Given the description of an element on the screen output the (x, y) to click on. 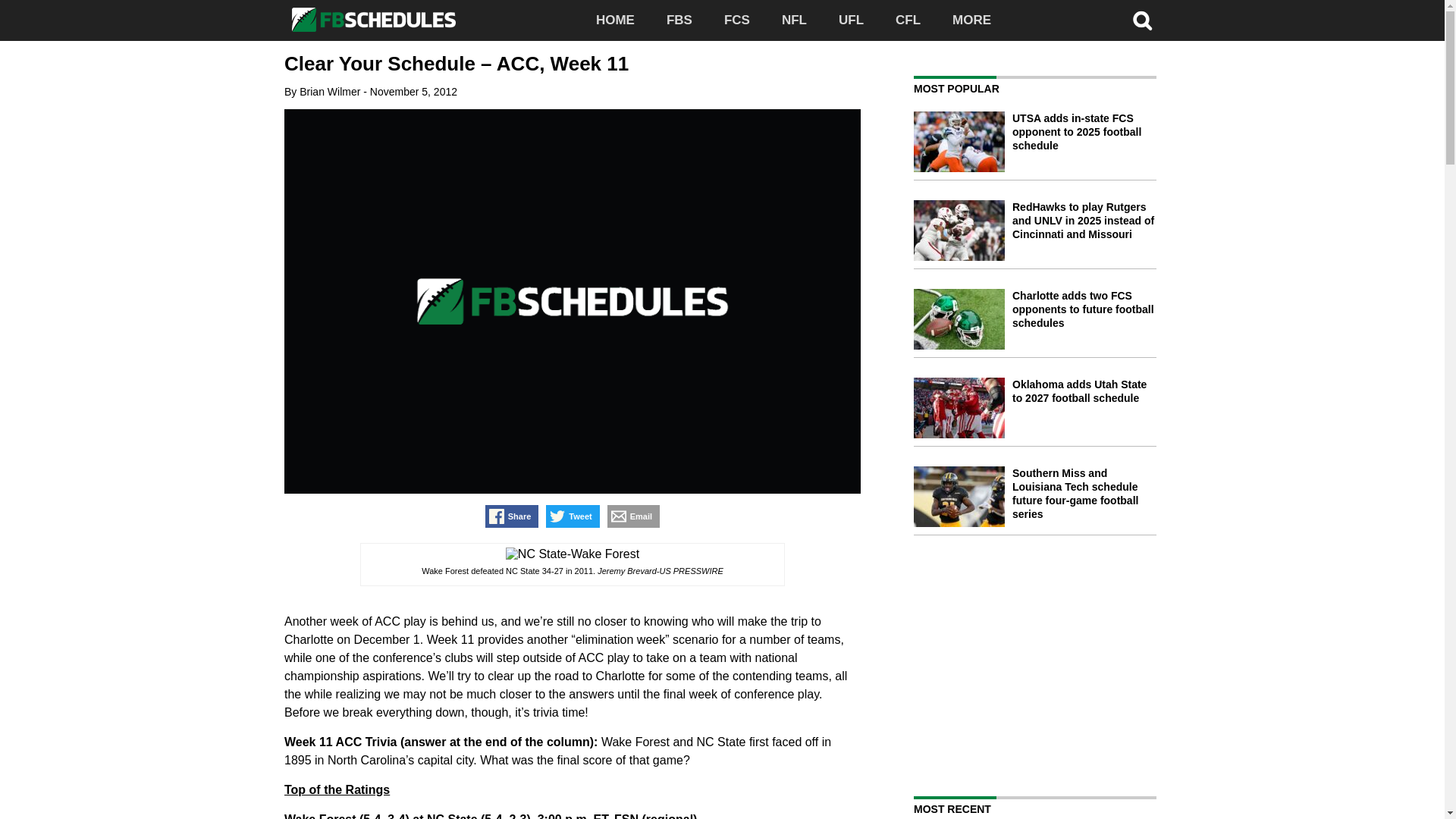
Advertisement (1041, 663)
HOME (614, 20)
FBS (678, 20)
NC State-Wake Forest (572, 554)
